Given the description of an element on the screen output the (x, y) to click on. 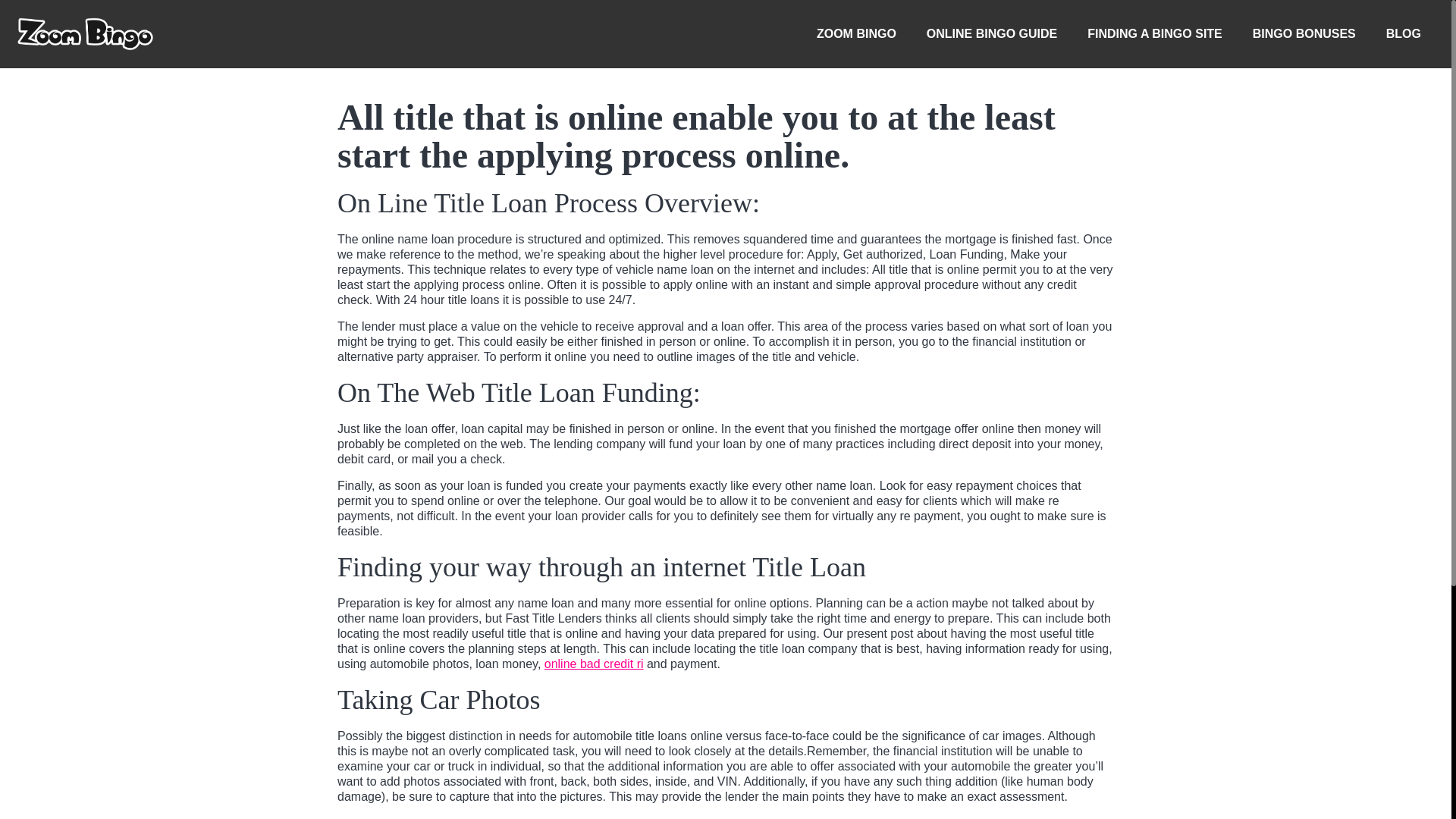
BINGO BONUSES (1304, 33)
FINDING A BINGO SITE (1153, 33)
ZOOM BINGO (856, 33)
ONLINE BINGO GUIDE (991, 33)
BLOG (1403, 33)
online bad credit ri (593, 663)
